Given the description of an element on the screen output the (x, y) to click on. 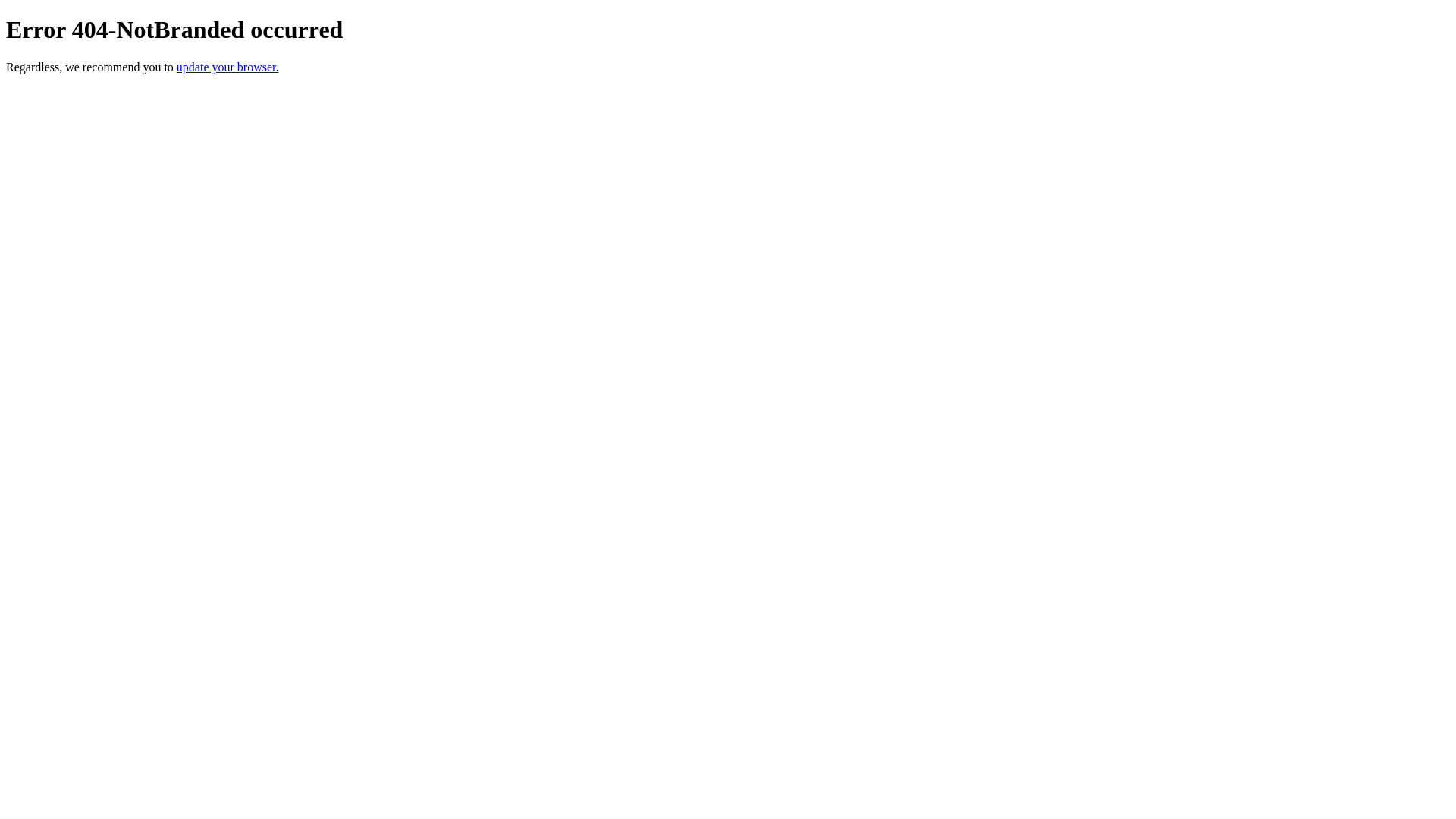
update your browser. Element type: text (227, 66)
